Given the description of an element on the screen output the (x, y) to click on. 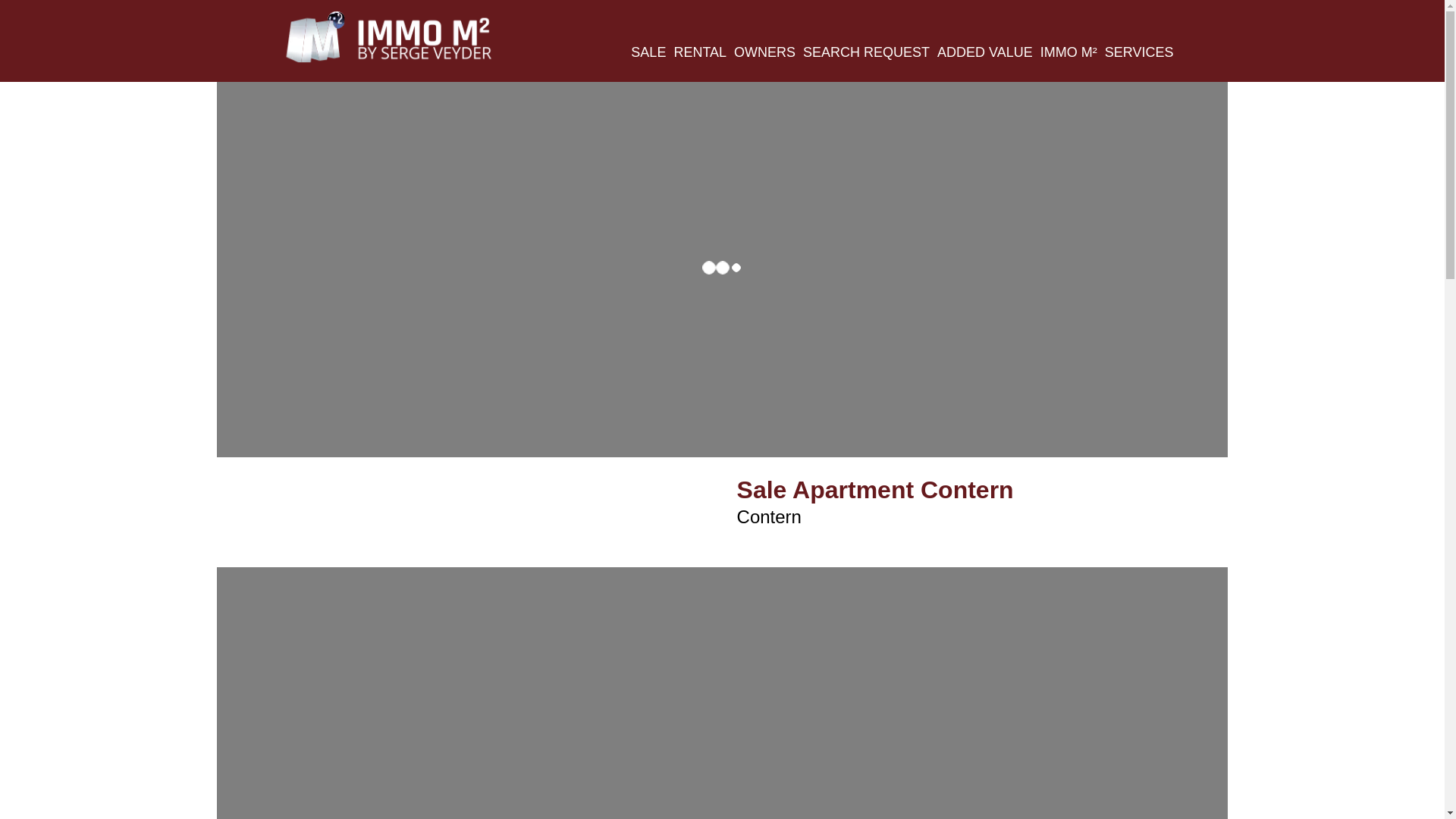
RENTAL (699, 54)
OWNERS (763, 54)
SEARCH REQUEST (866, 54)
ADDED VALUE (984, 54)
SERVICES (1139, 54)
SALE (647, 54)
